Given the description of an element on the screen output the (x, y) to click on. 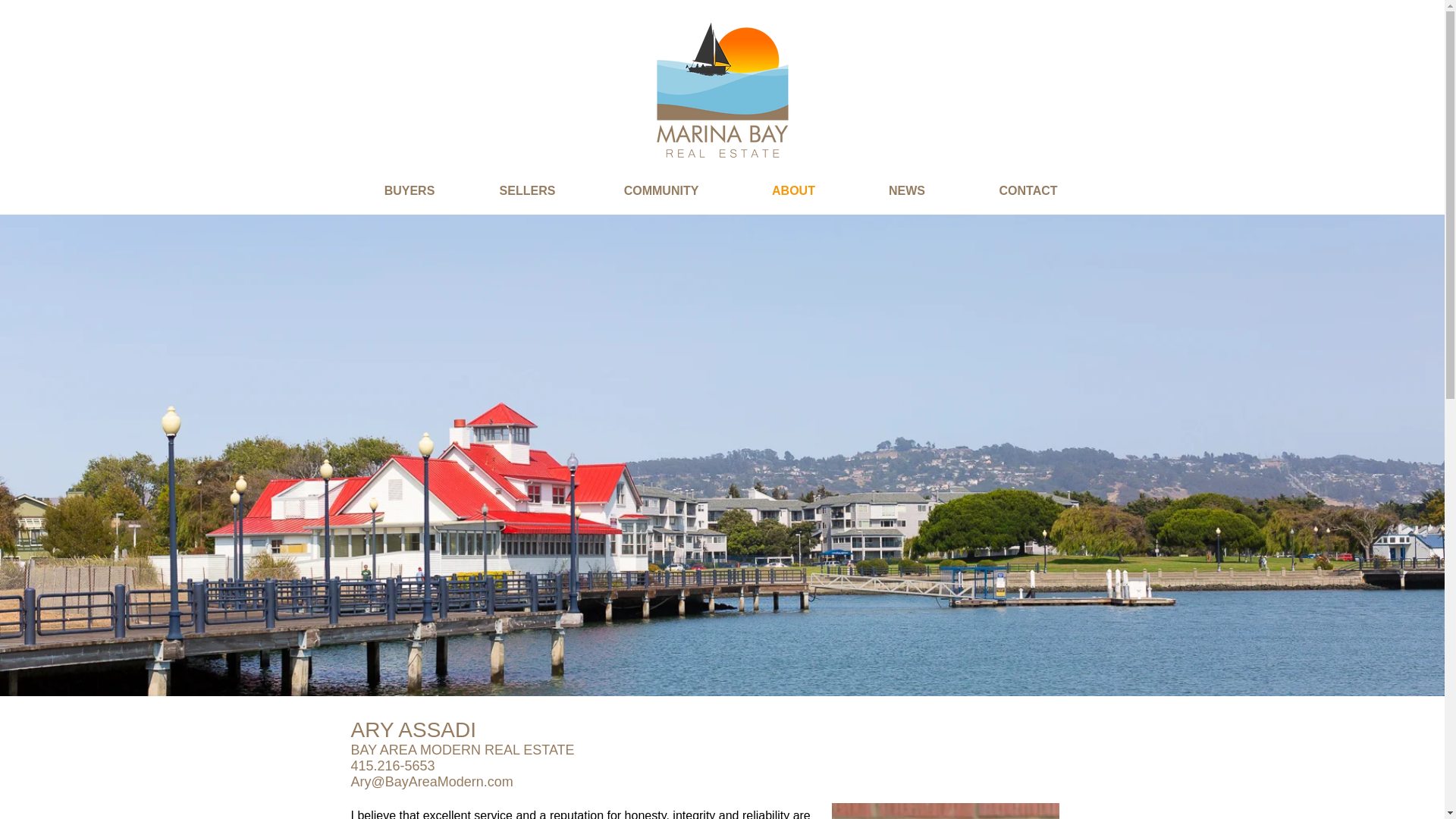
SELLERS (527, 190)
BUYERS (408, 190)
Embedded Content (721, 361)
CONTACT (1028, 190)
ABOUT (792, 190)
NEWS (906, 190)
COMMUNITY (661, 190)
